Given the description of an element on the screen output the (x, y) to click on. 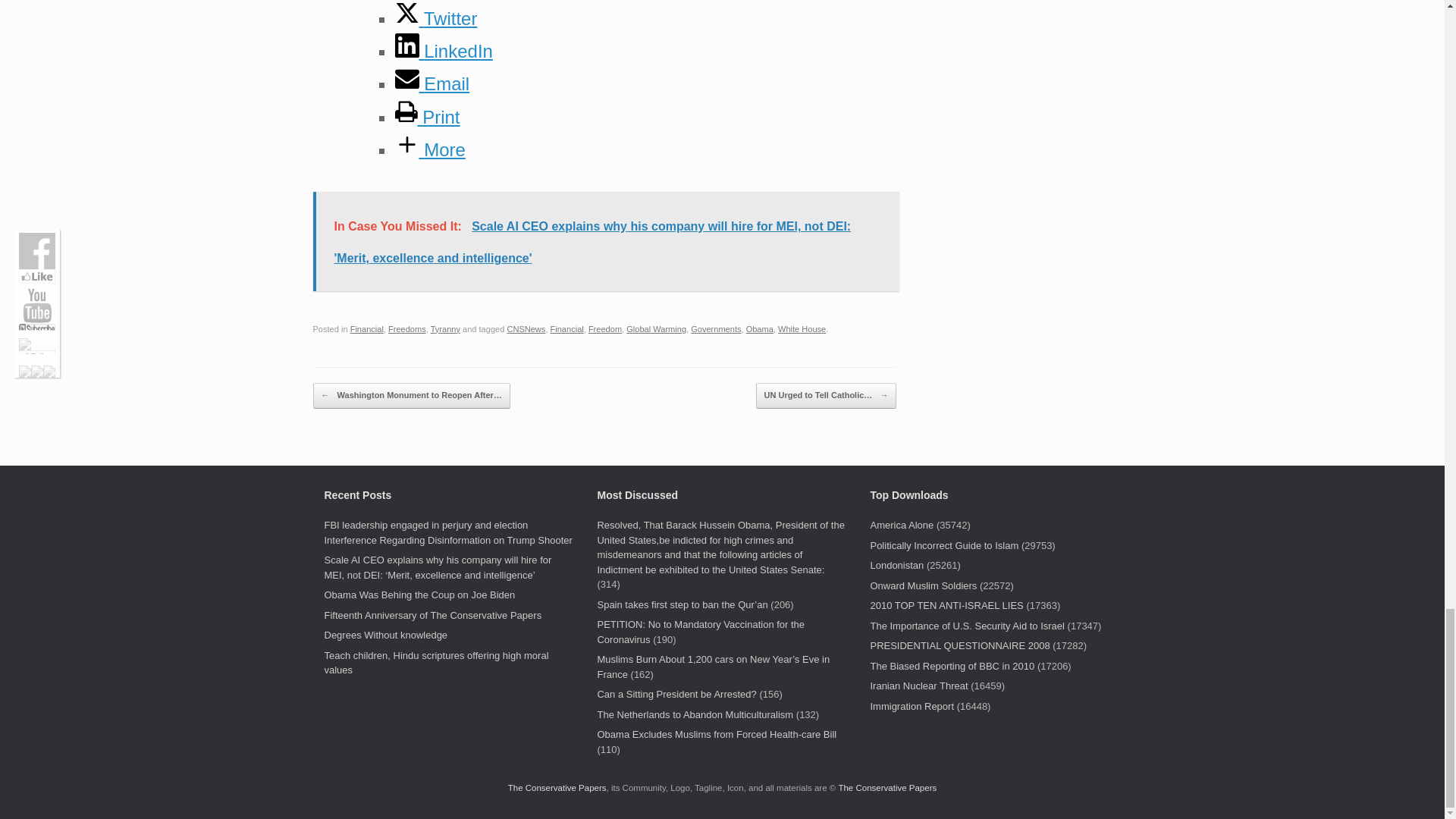
Financial (367, 328)
LinkedIn (443, 50)
Tyranny (445, 328)
Freedoms (407, 328)
Print (427, 117)
Twitter (435, 17)
CNSNews (525, 328)
Email (431, 83)
More (429, 149)
